Given the description of an element on the screen output the (x, y) to click on. 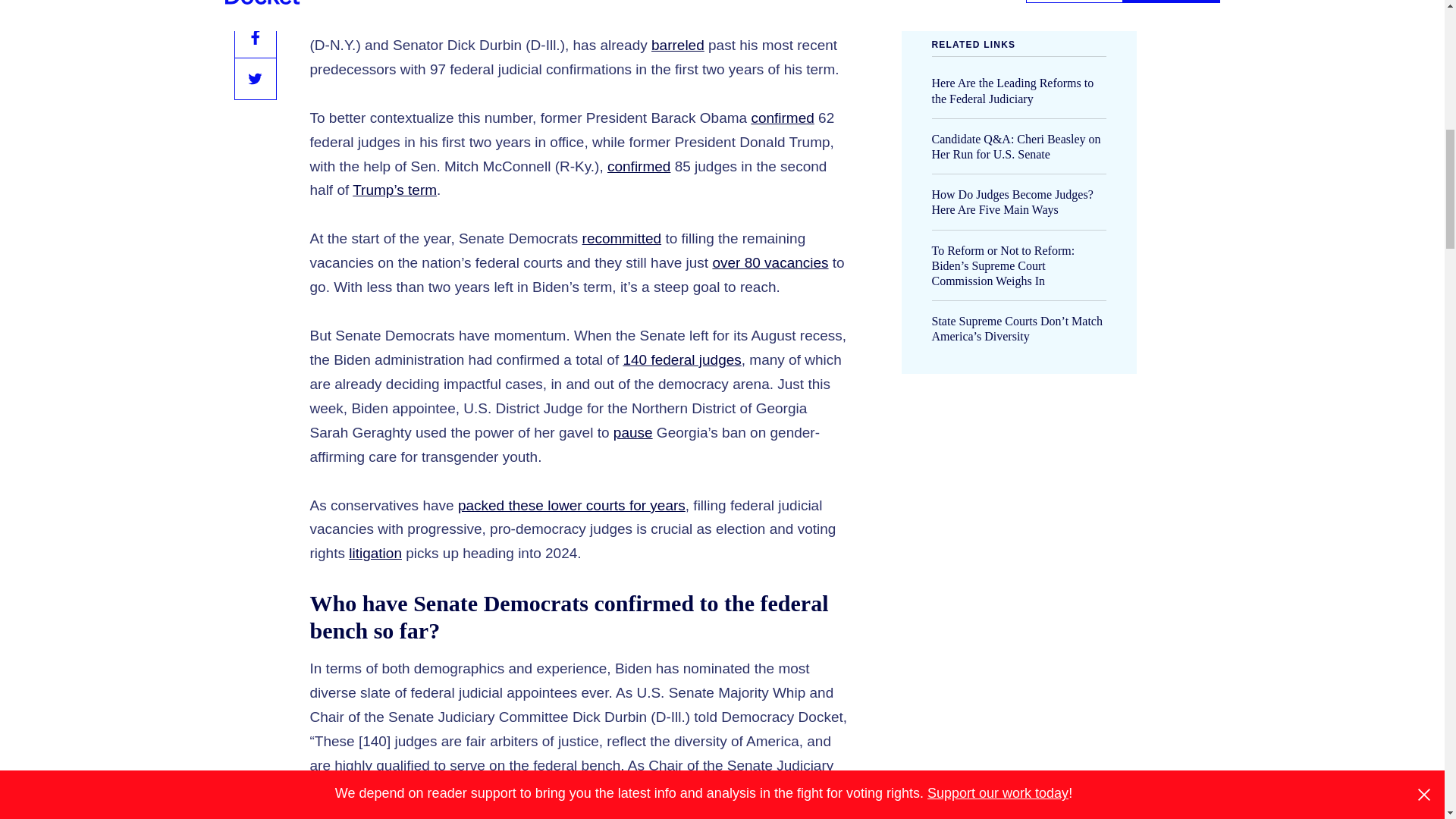
barreled (677, 44)
Share on Facebook (254, 36)
recommitted (622, 238)
confirmed (638, 166)
over 80 vacancies (769, 262)
140 federal judges (682, 359)
pause (632, 432)
packed these lower courts for years (571, 505)
litigation (375, 553)
confirmed (782, 117)
Share on Twitter (254, 78)
